Given the description of an element on the screen output the (x, y) to click on. 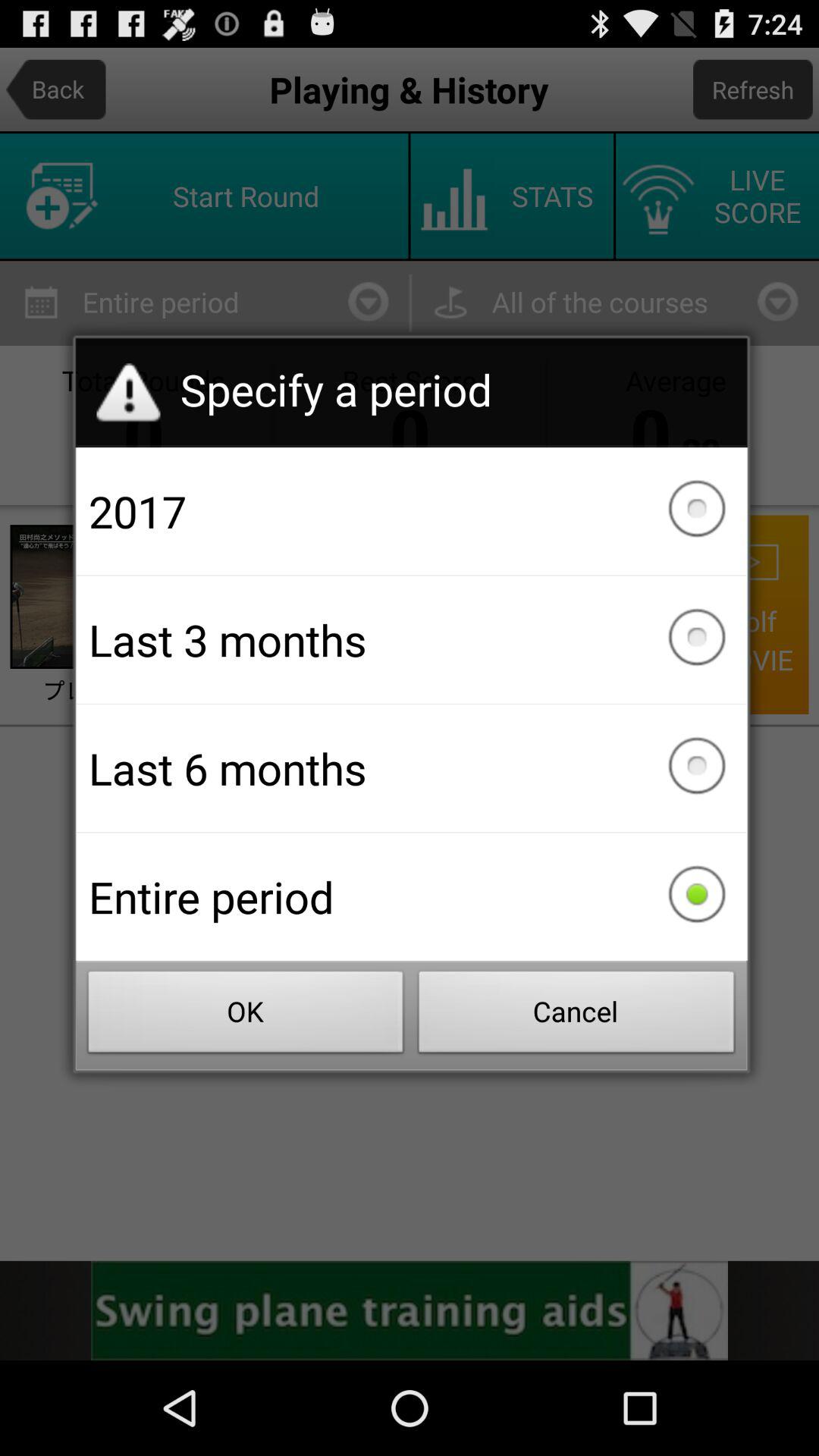
press the icon next to the cancel button (245, 1016)
